Given the description of an element on the screen output the (x, y) to click on. 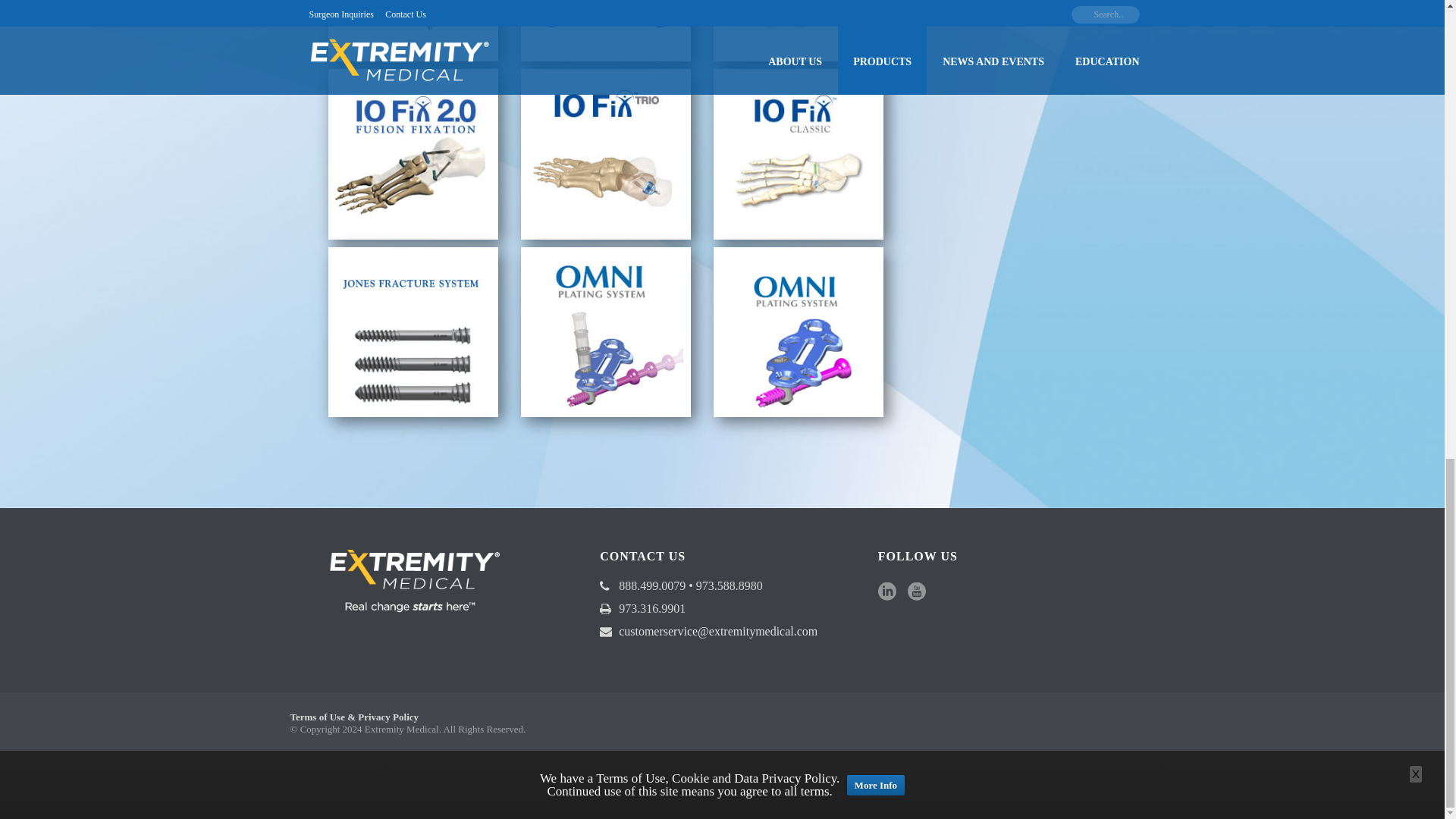
expressprod (605, 30)
hammerfixprod (798, 30)
iofixclassicprod (798, 153)
iofixtrioprod (605, 153)
compressx2prod (412, 30)
io-fix-2prod (412, 153)
